Given the description of an element on the screen output the (x, y) to click on. 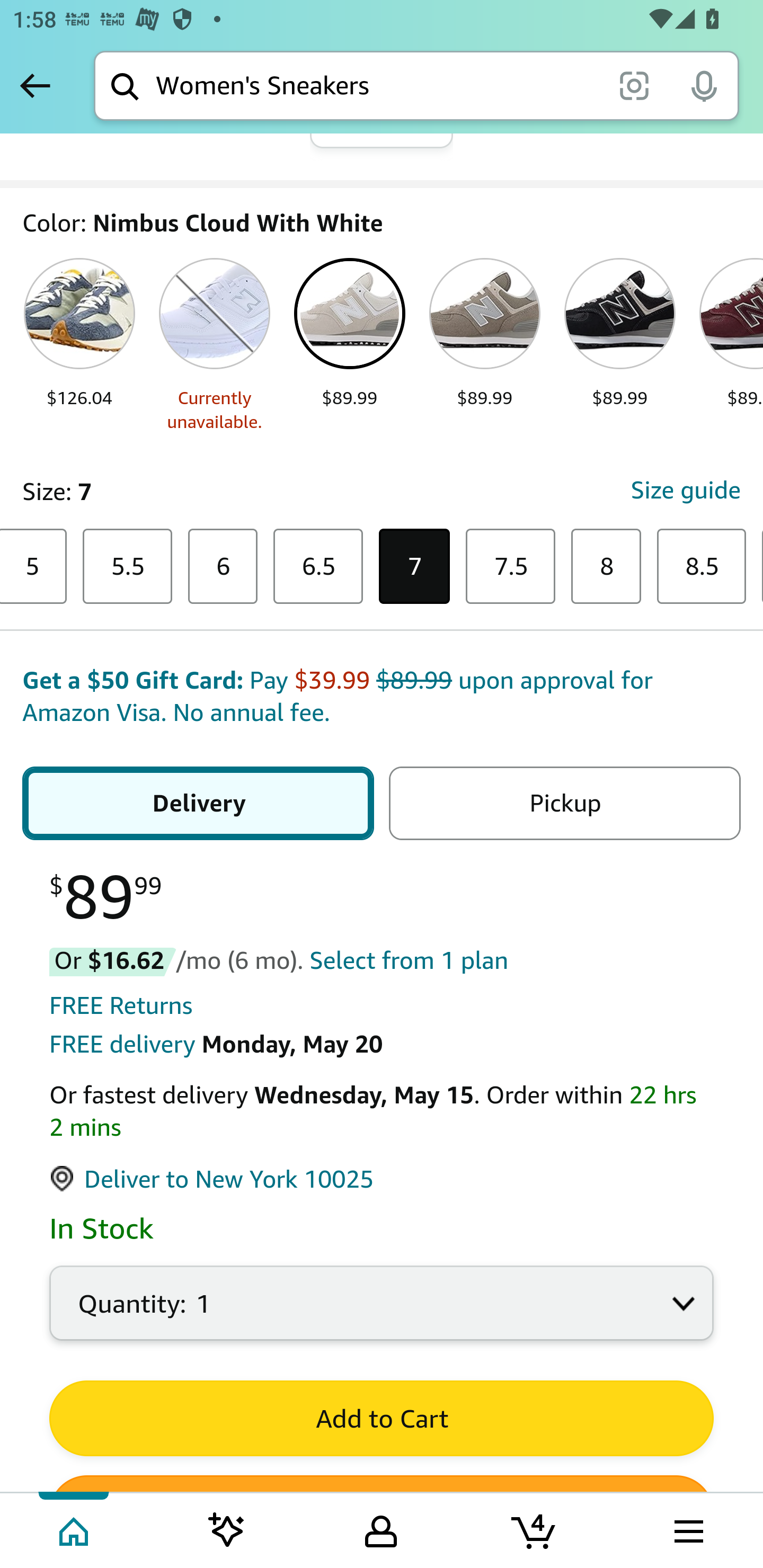
Back (35, 85)
scan it (633, 85)
Size guide (684, 491)
5 (33, 567)
5.5 (126, 567)
6 (222, 567)
6.5 (317, 567)
7 (414, 567)
7.5 (510, 567)
8 (606, 567)
8.5 (701, 567)
Delivery (198, 804)
Pickup (564, 804)
Select from 1 plan (408, 961)
FREE Returns (121, 1006)
FREE delivery (122, 1044)
Deliver to New York 10025‌ (212, 1180)
1 (381, 1313)
Add to Cart (381, 1418)
Home Tab 1 of 5 (75, 1529)
Inspire feed Tab 2 of 5 (227, 1529)
Your Amazon.com Tab 3 of 5 (380, 1529)
Cart 4 items Tab 4 of 5 4 (534, 1529)
Browse menu Tab 5 of 5 (687, 1529)
